Given the description of an element on the screen output the (x, y) to click on. 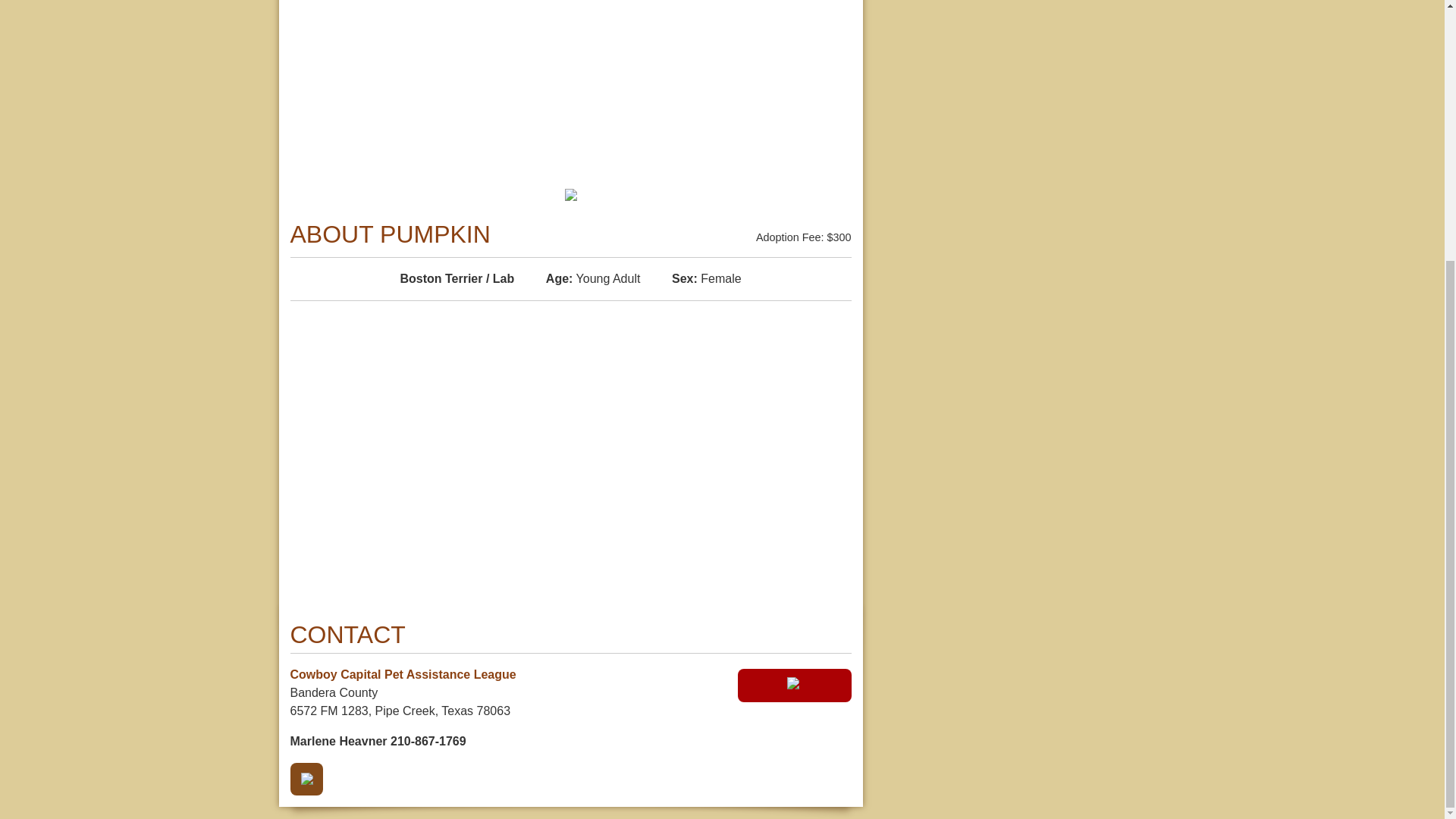
EMAIL (305, 778)
Cowboy Capital Pet Assistance League (402, 674)
DIRECTIONS (793, 685)
